Given the description of an element on the screen output the (x, y) to click on. 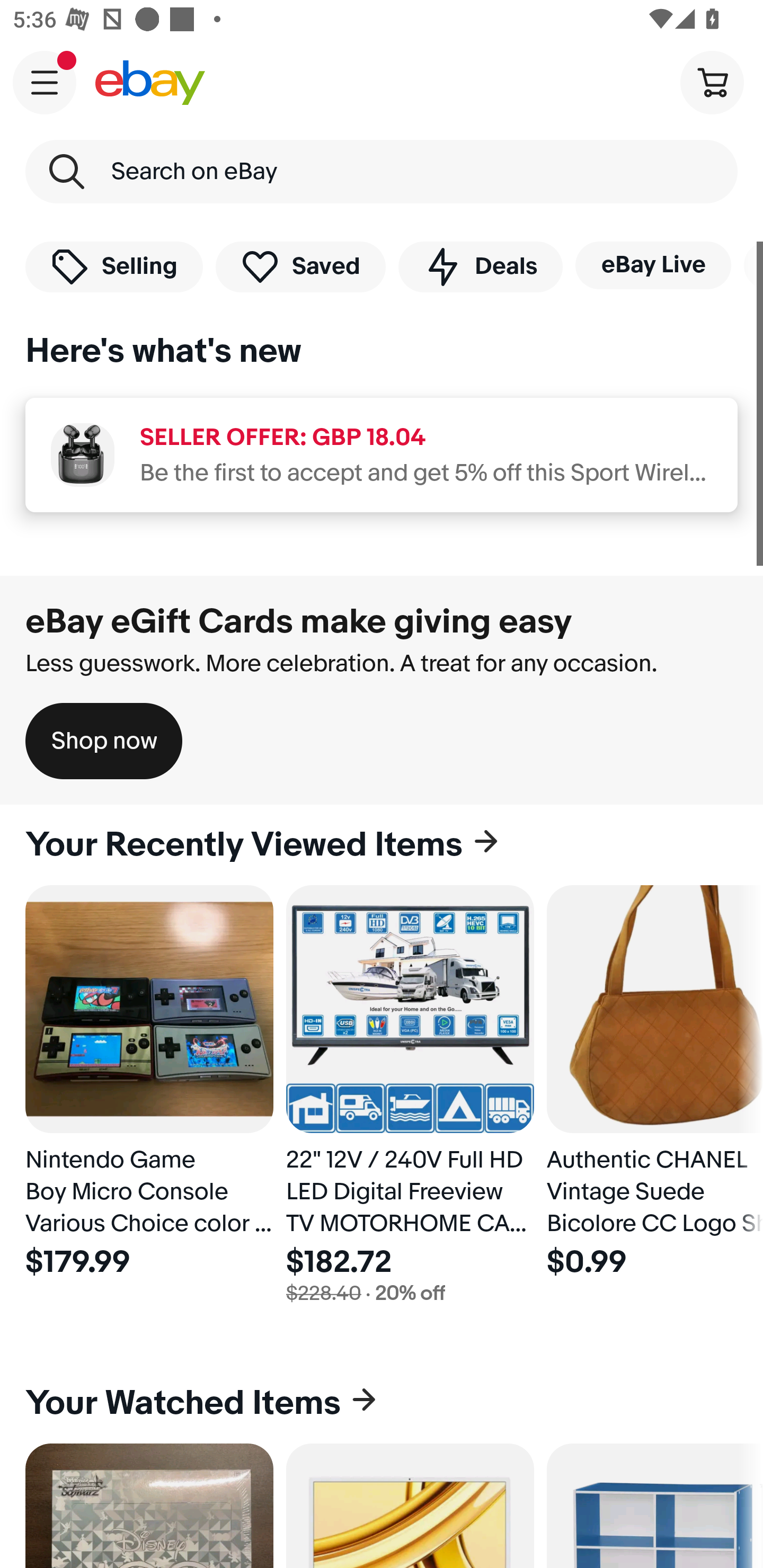
Main navigation, notification is pending, open (44, 82)
Cart button shopping cart (711, 81)
Search on eBay Search Keyword Search on eBay (381, 171)
Selling (113, 266)
Saved (300, 266)
Deals (480, 266)
eBay Live (652, 264)
eBay eGift Cards make giving easy (298, 621)
Shop now (103, 740)
Your Recently Viewed Items   (381, 844)
Your Watched Items   (381, 1403)
